Given the description of an element on the screen output the (x, y) to click on. 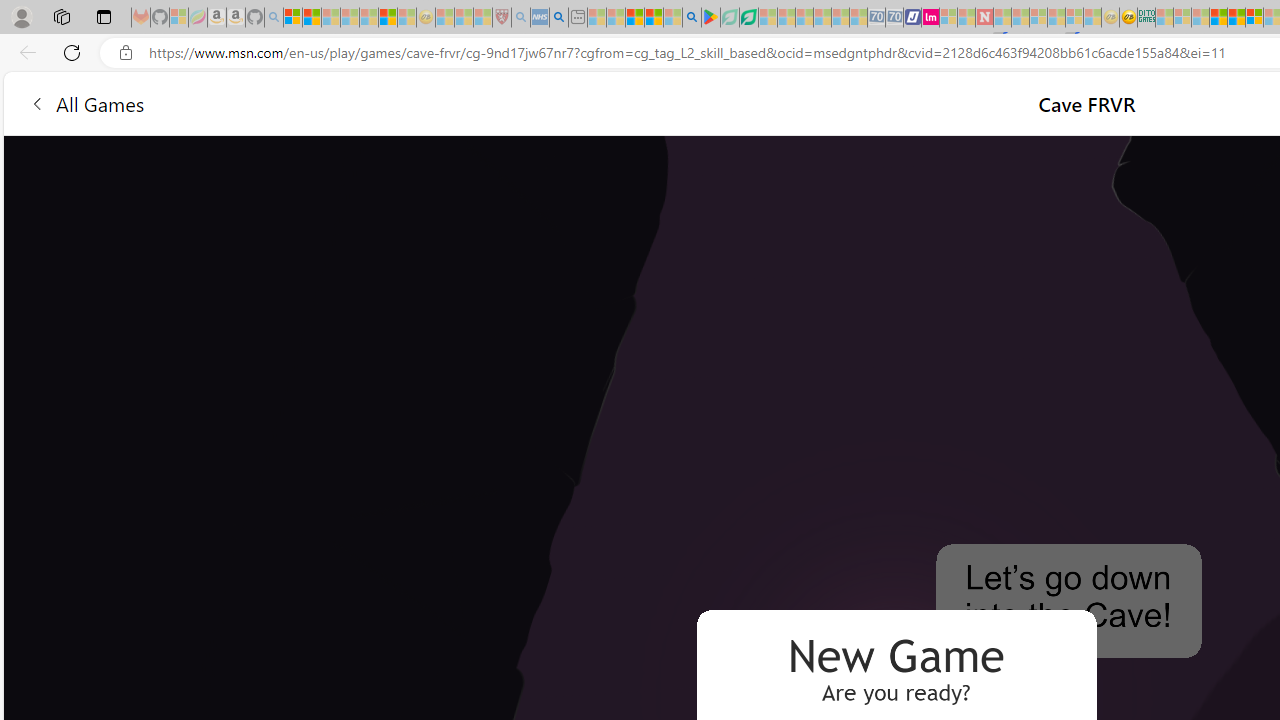
Jobs - lastminute.com Investor Portal (930, 17)
Kinda Frugal - MSN (1236, 17)
Expert Portfolios (1218, 17)
utah sues federal government - Search (559, 17)
All Games (380, 102)
Pets - MSN (654, 17)
